Given the description of an element on the screen output the (x, y) to click on. 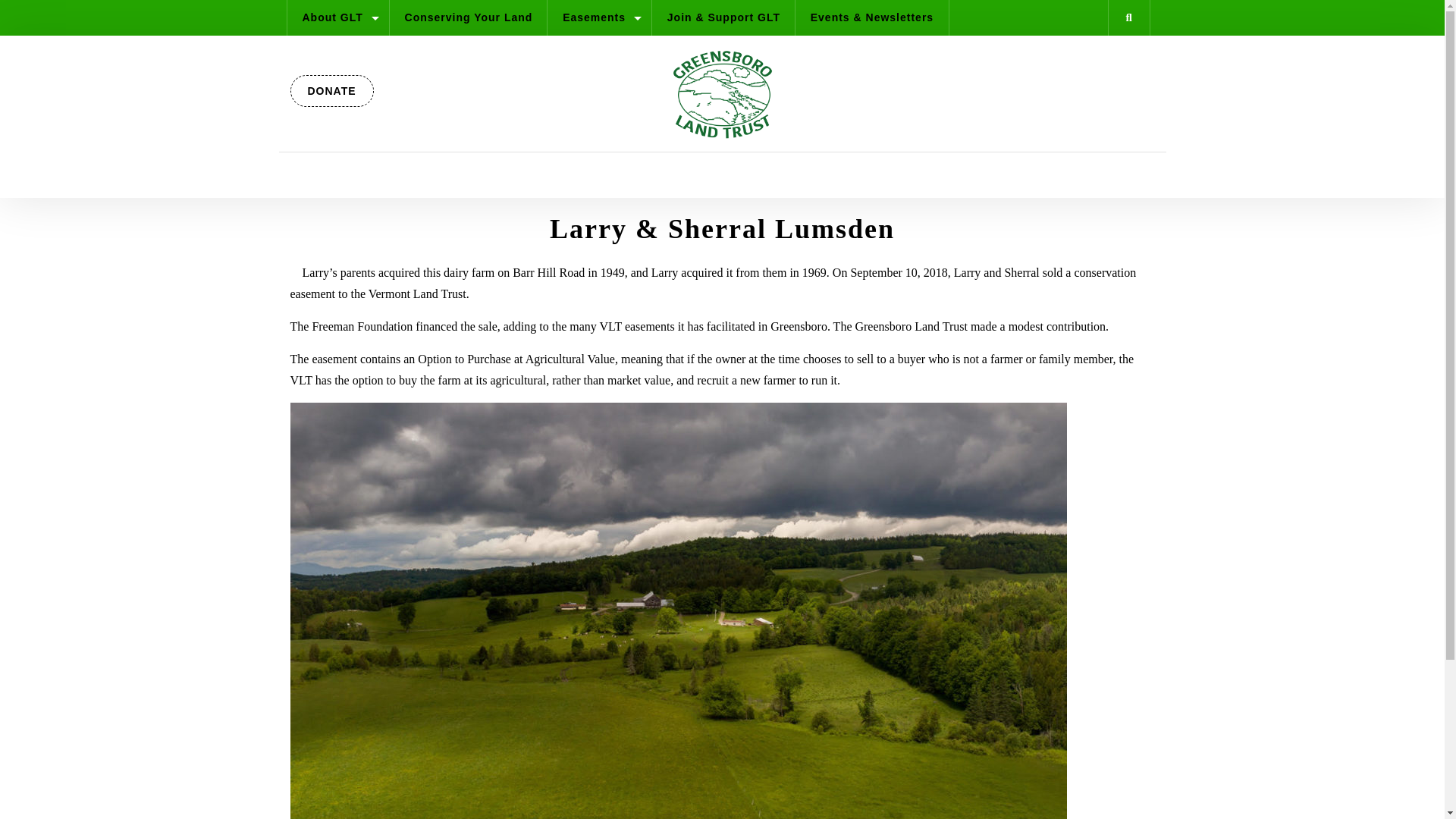
Conserving Your Land (468, 17)
About GLT (337, 17)
Easements (599, 17)
